Given the description of an element on the screen output the (x, y) to click on. 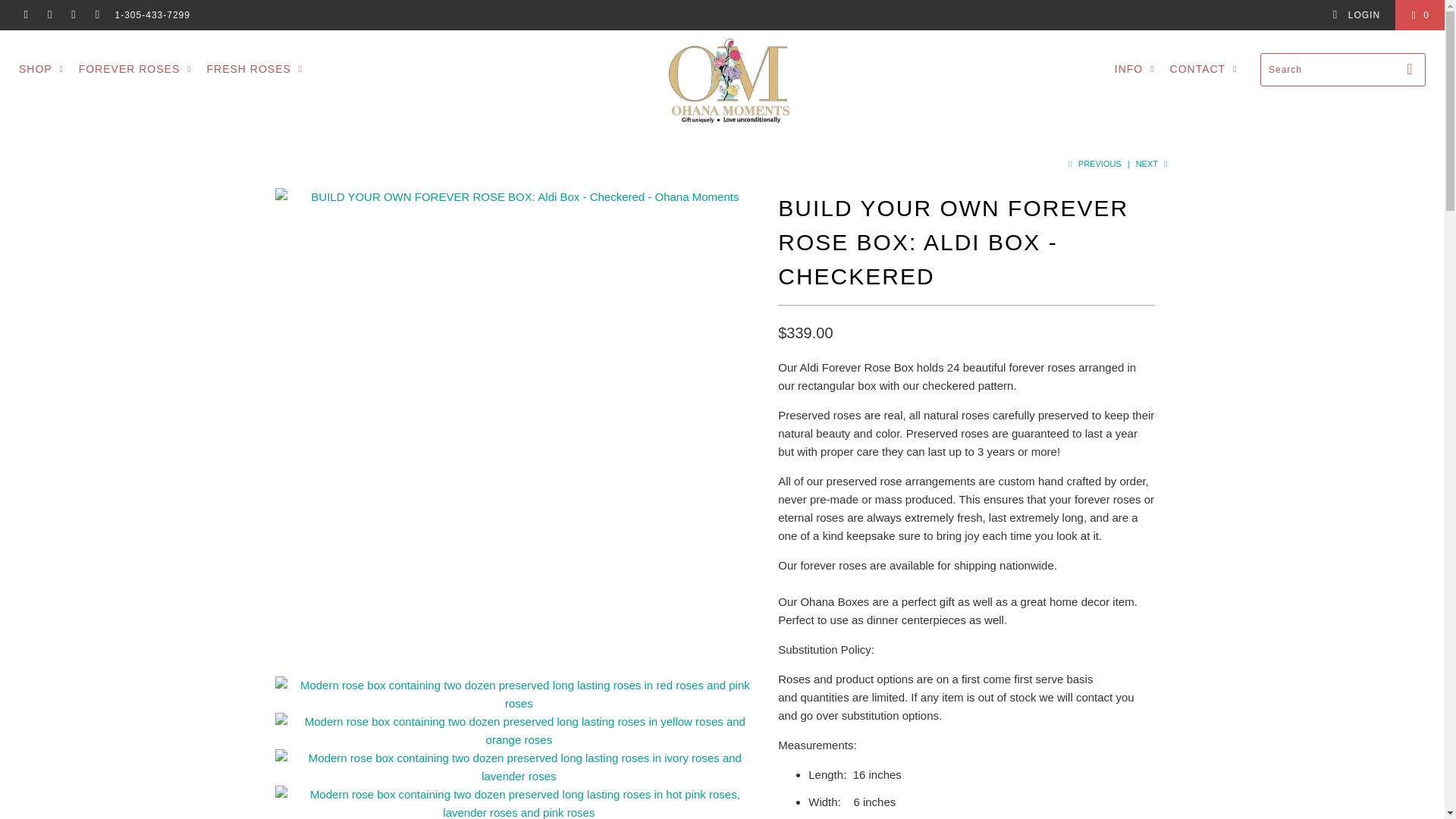
Previous (1092, 163)
Email Ohana Moments (96, 14)
Ohana Moments (729, 80)
Ohana Moments on Facebook (25, 14)
Ohana Moments on Instagram (73, 14)
My Account  (1355, 15)
Ohana Moments on Pinterest (48, 14)
Next (1152, 163)
